Given the description of an element on the screen output the (x, y) to click on. 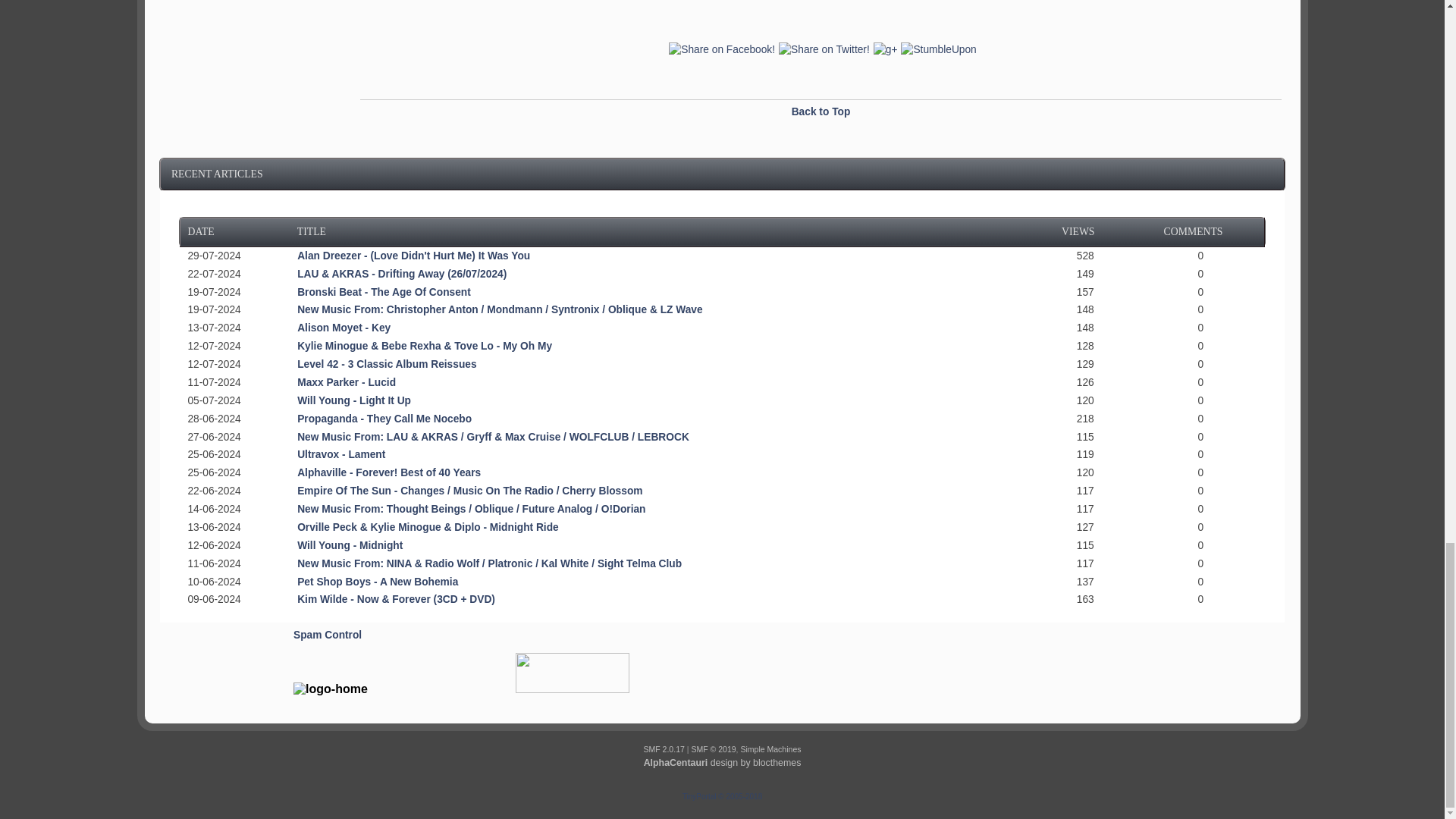
Alison Moyet - Key (343, 327)
TinyPortal (699, 796)
Back to Top (821, 111)
Bronski Beat - The Age Of Consent (383, 292)
Level 42 - 3 Classic Album Reissues (386, 364)
Will Young - Light It Up (353, 400)
Maxx Parker - Lucid (346, 382)
Share on Twitter! (821, 50)
Share on Google Plus (883, 50)
Share on Facebook! (719, 50)
